Given the description of an element on the screen output the (x, y) to click on. 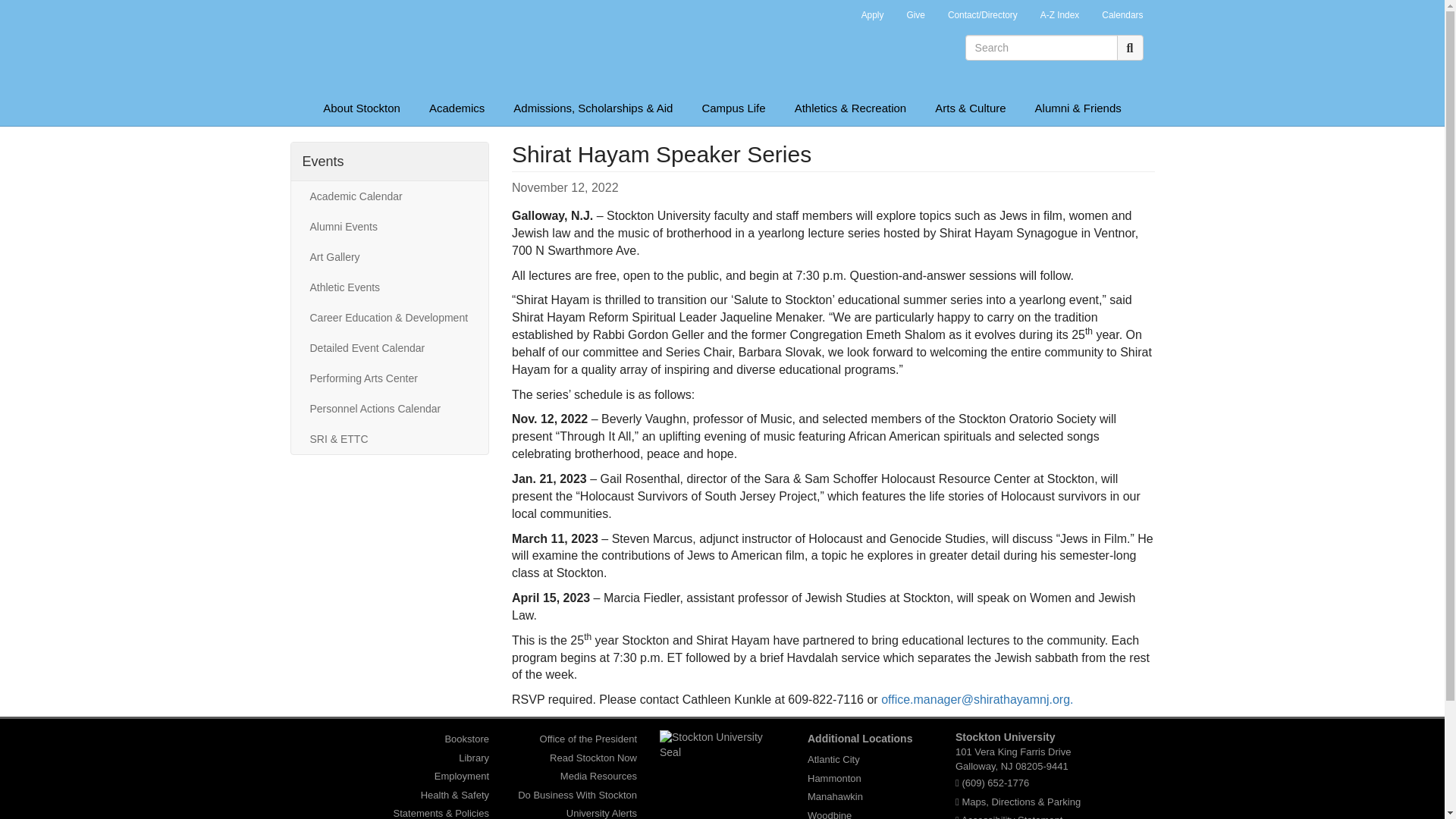
About Stockton (361, 108)
Do Business With Stockton (577, 795)
Read Stockton Now (593, 757)
Apply (872, 17)
Employment (461, 775)
Alumni Events (389, 226)
Calendars (1122, 17)
Call with Google Voice (994, 782)
Personnel Actions Calendar (389, 408)
Office of the President (588, 738)
